Given the description of an element on the screen output the (x, y) to click on. 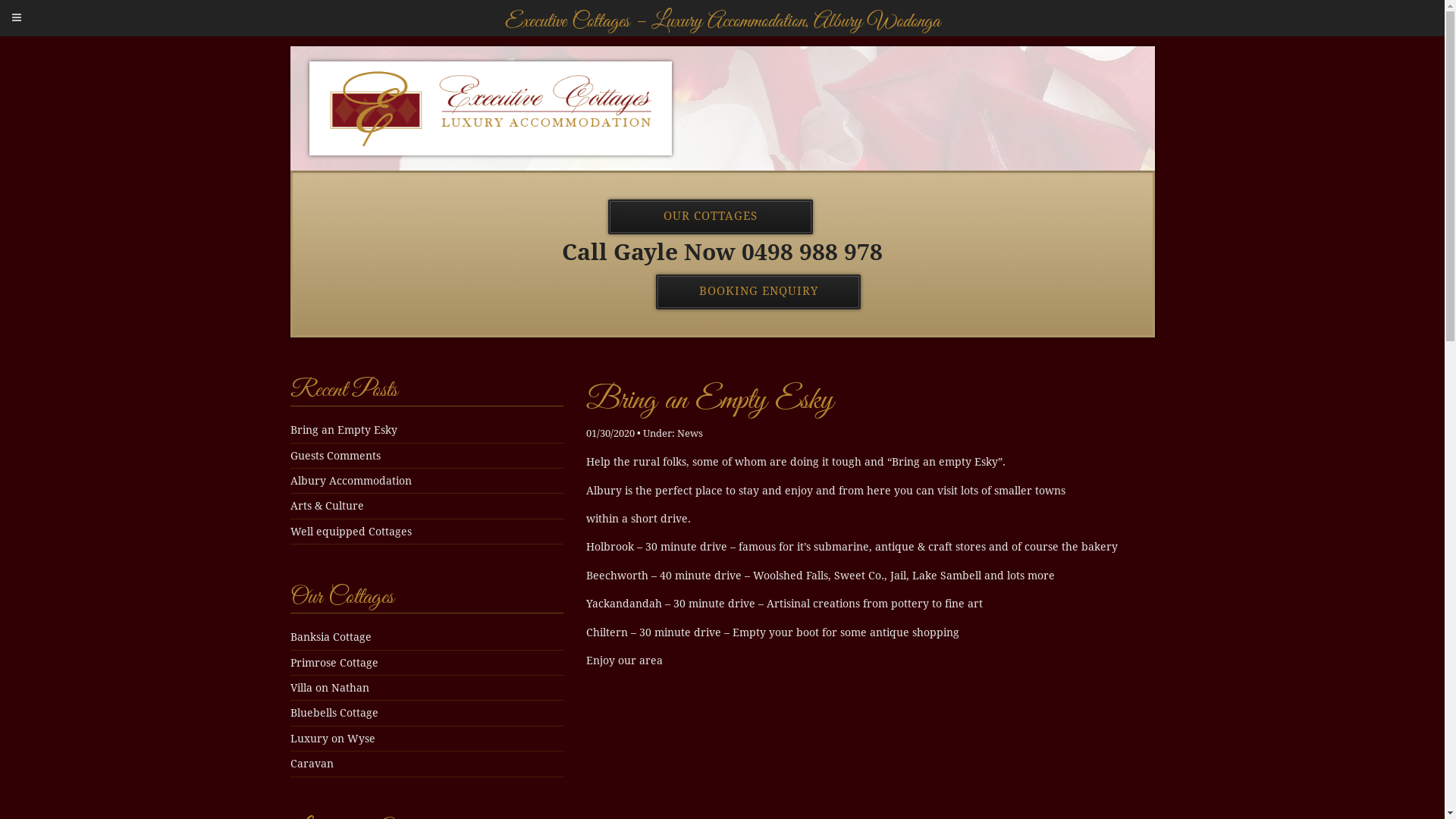
Bring an Empty Esky Element type: text (342, 429)
Banksia Cottage Element type: text (329, 636)
Bring an Empty Esky Element type: text (708, 400)
Villa on Nathan Element type: text (328, 687)
News Element type: text (689, 433)
Bluebells Cottage Element type: text (333, 712)
Primrose Cottage Element type: text (333, 662)
Albury Accommodation Element type: text (350, 480)
OUR COTTAGES Element type: text (710, 215)
Caravan Element type: text (310, 763)
Guests Comments Element type: text (334, 455)
Luxury on Wyse Element type: text (331, 738)
Arts & Culture Element type: text (326, 505)
Well equipped Cottages Element type: text (350, 531)
BOOKING ENQUIRY Element type: text (758, 291)
